Given the description of an element on the screen output the (x, y) to click on. 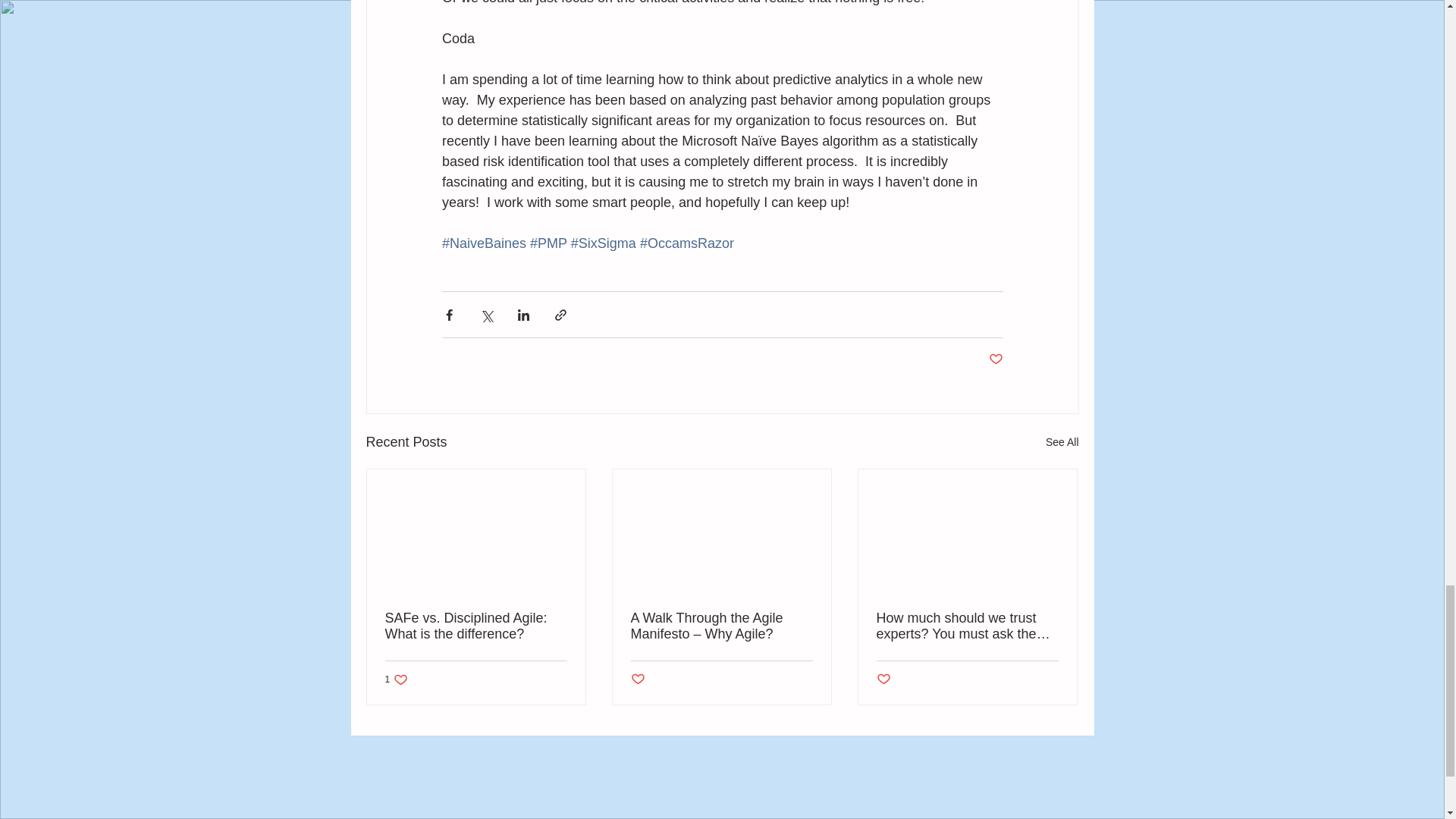
Post not marked as liked (995, 359)
SAFe vs. Disciplined Agile: What is the difference? (476, 626)
See All (397, 679)
Post not marked as liked (1061, 442)
Post not marked as liked (883, 679)
